Given the description of an element on the screen output the (x, y) to click on. 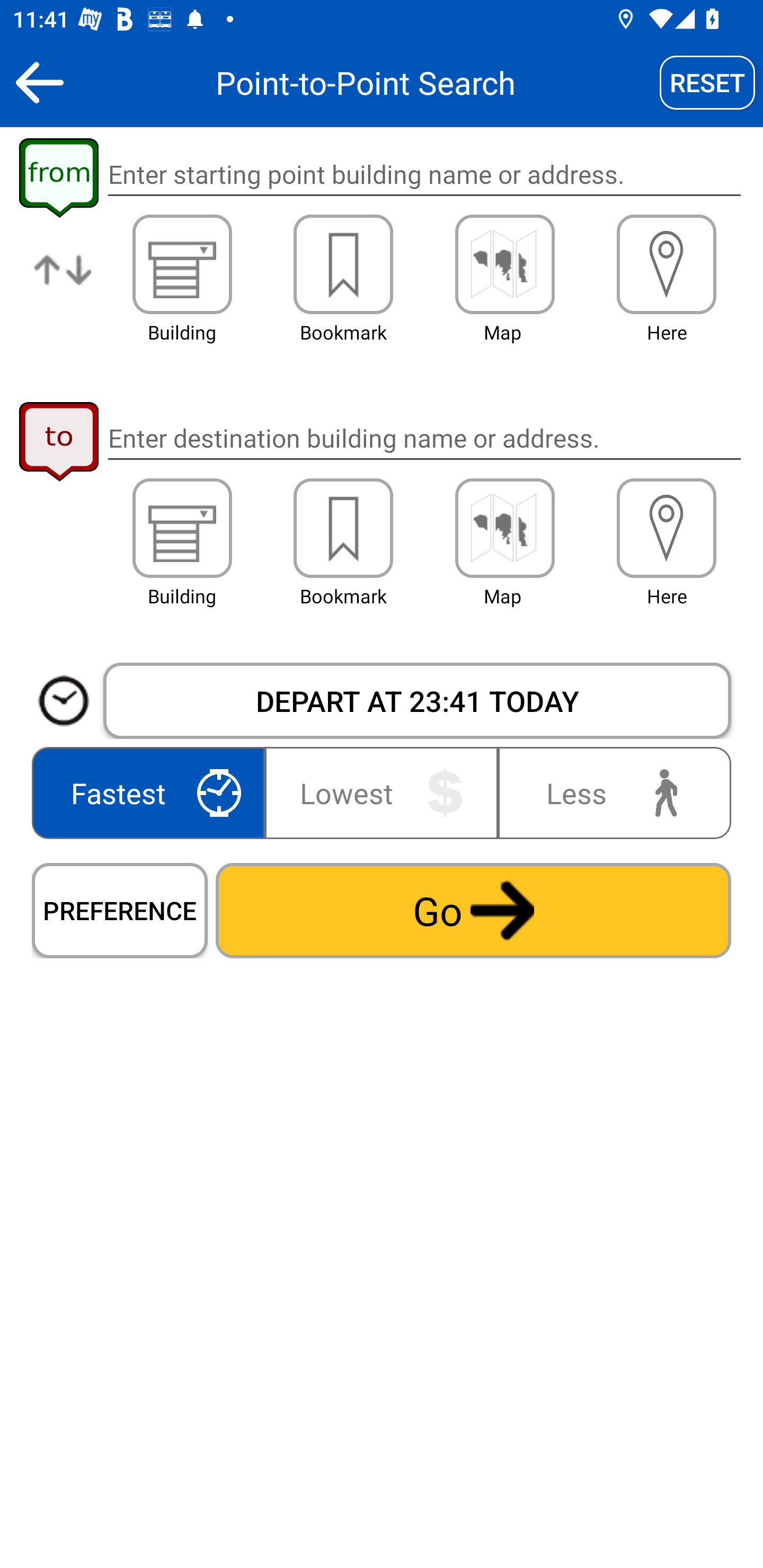
Back (39, 82)
RESET Reset (707, 81)
Enter starting point building name or address. (423, 174)
Building (181, 263)
Bookmarks (342, 263)
Select location on map (504, 263)
Here (666, 263)
Swap origin and destination (63, 284)
Enter destination building name or address. (423, 437)
Building (181, 528)
Bookmarks (342, 528)
Select location on map (504, 528)
Here (666, 528)
Lowest (381, 792)
Fastest selected (151, 792)
Less (610, 792)
PREFERENCE Preference (119, 910)
Go (472, 910)
